Given the description of an element on the screen output the (x, y) to click on. 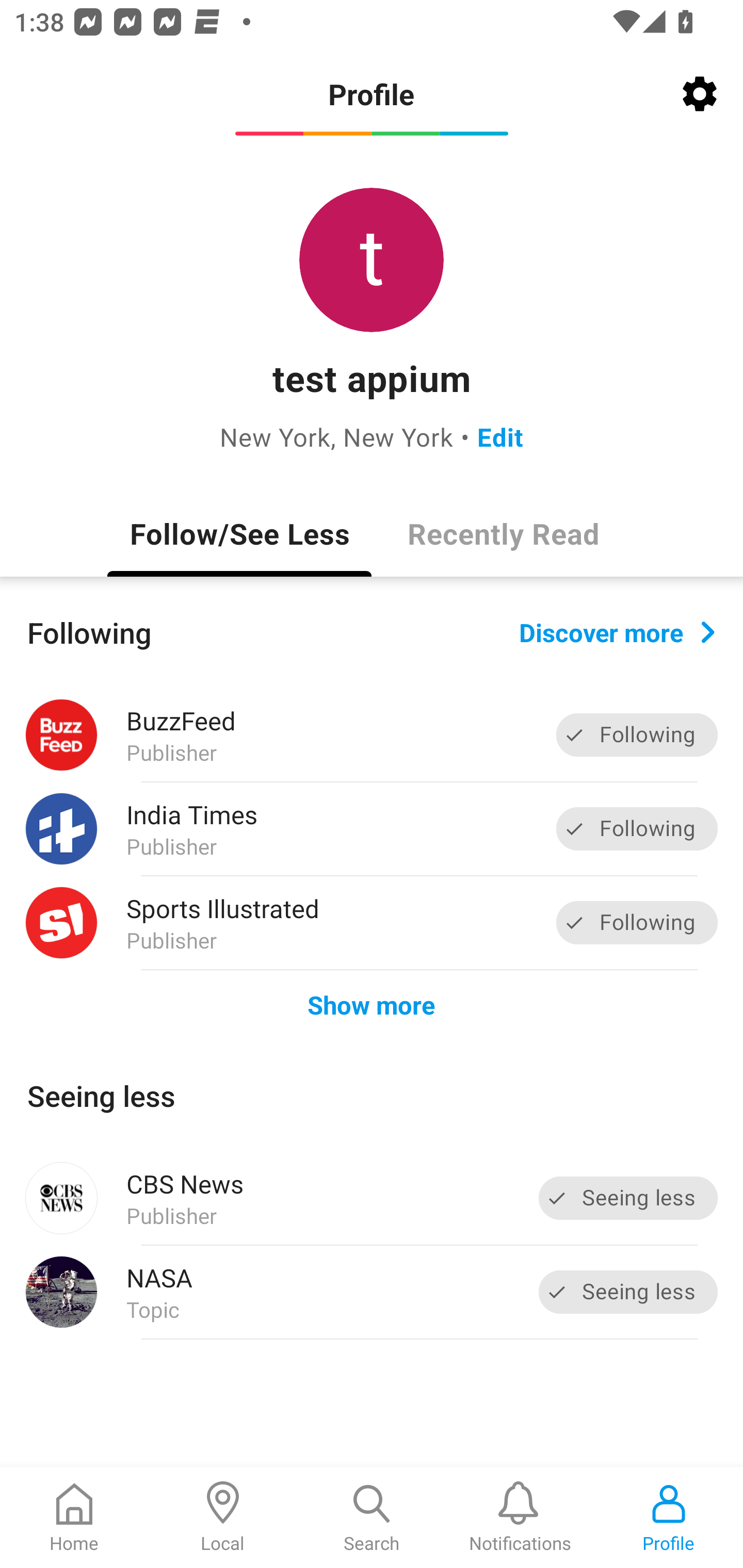
Settings (699, 93)
Edit (500, 436)
Recently Read (503, 533)
Discover more (617, 631)
BuzzFeed Publisher Following (371, 735)
Following (636, 735)
India Times Publisher Following (371, 829)
Following (636, 828)
Sports Illustrated Publisher Following (371, 922)
Following (636, 922)
Show more (371, 1004)
CBS News Publisher Seeing less (371, 1197)
Seeing less (627, 1197)
NASA Topic Seeing less (371, 1291)
Seeing less (627, 1291)
Home (74, 1517)
Local (222, 1517)
Search (371, 1517)
Notifications (519, 1517)
